Given the description of an element on the screen output the (x, y) to click on. 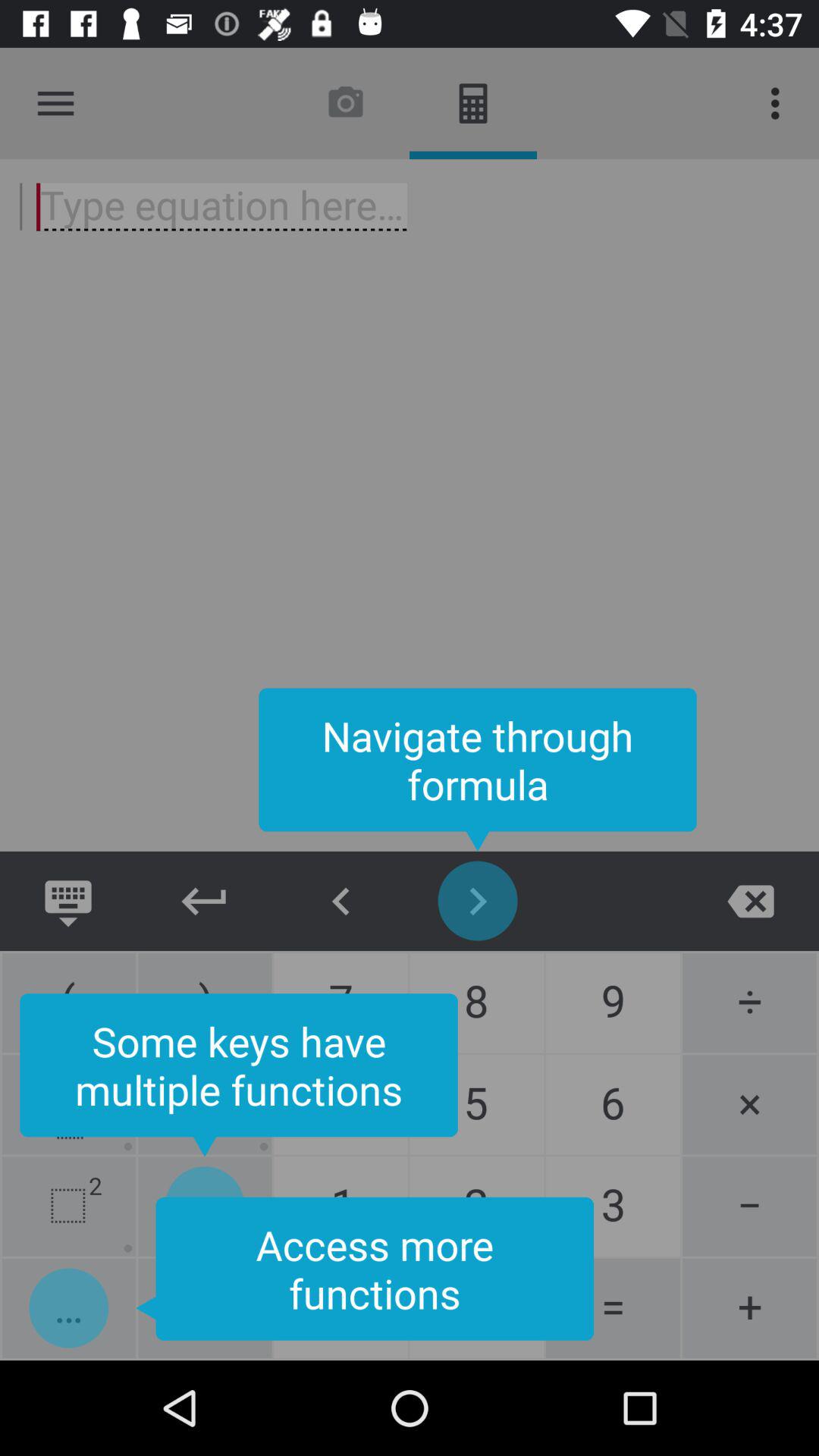
close (750, 900)
